Given the description of an element on the screen output the (x, y) to click on. 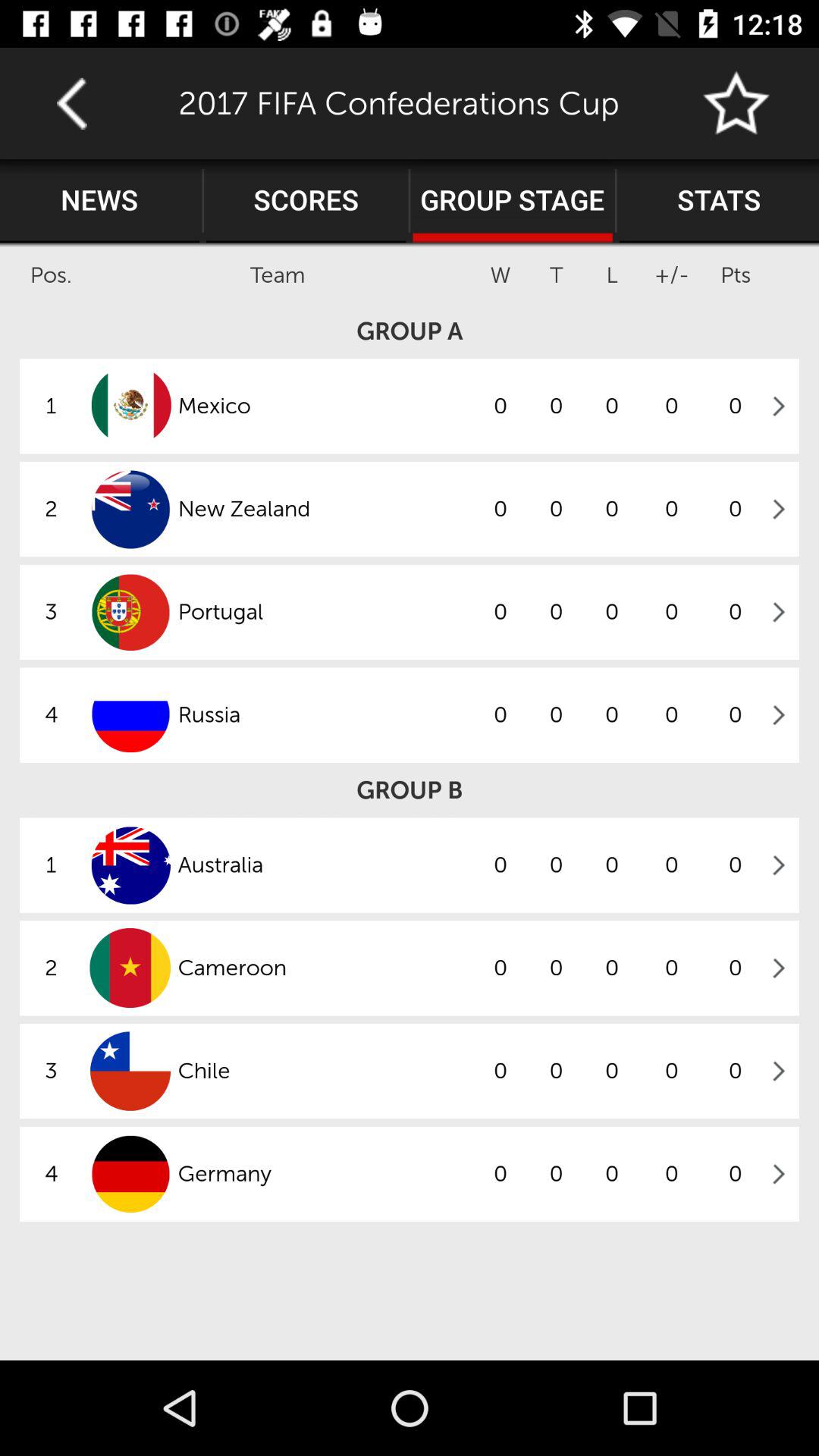
turn off the icon to the right of 2017 fifa confederations (736, 103)
